Given the description of an element on the screen output the (x, y) to click on. 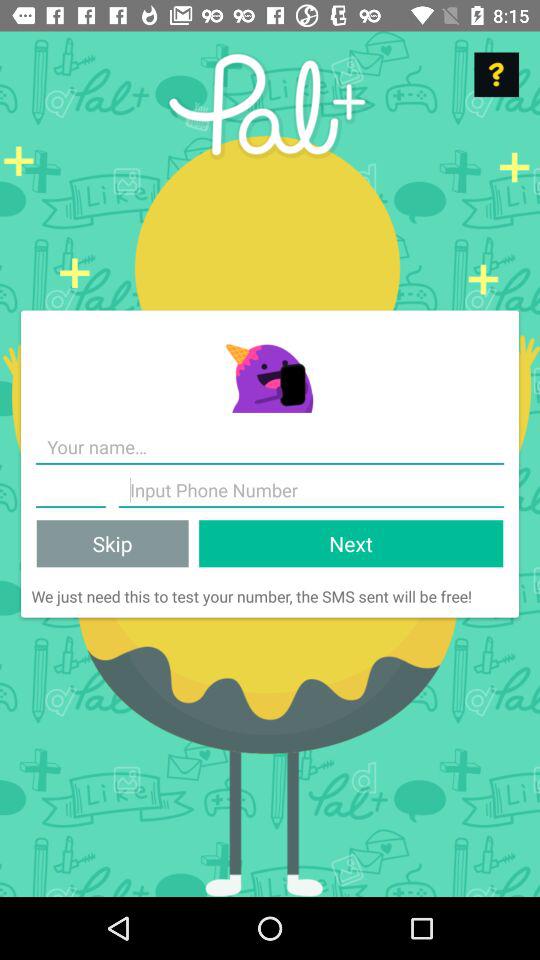
help options (496, 74)
